Given the description of an element on the screen output the (x, y) to click on. 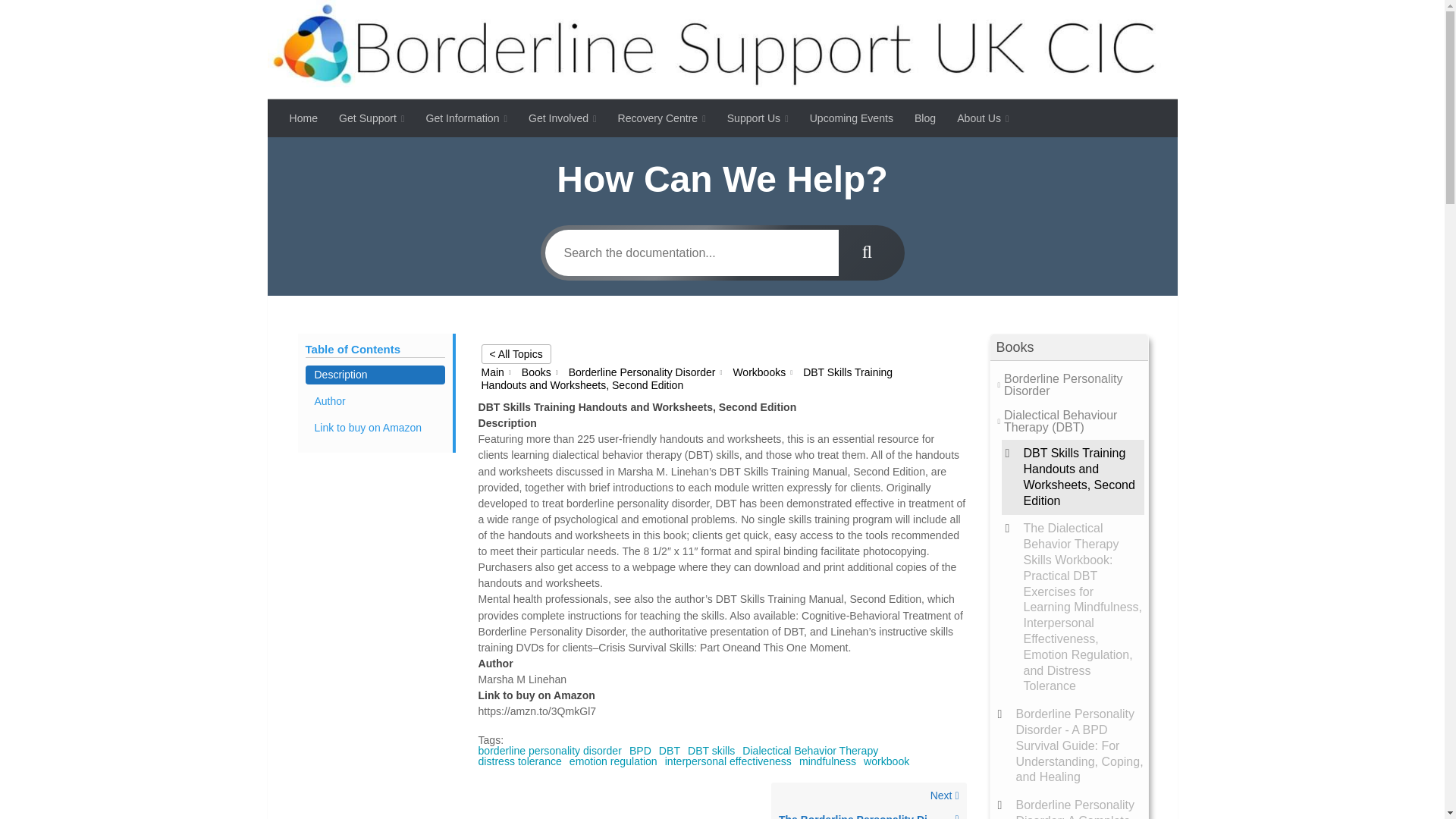
Get Support (371, 118)
Skip to content (58, 19)
Home (304, 118)
Get Information (466, 118)
